Given the description of an element on the screen output the (x, y) to click on. 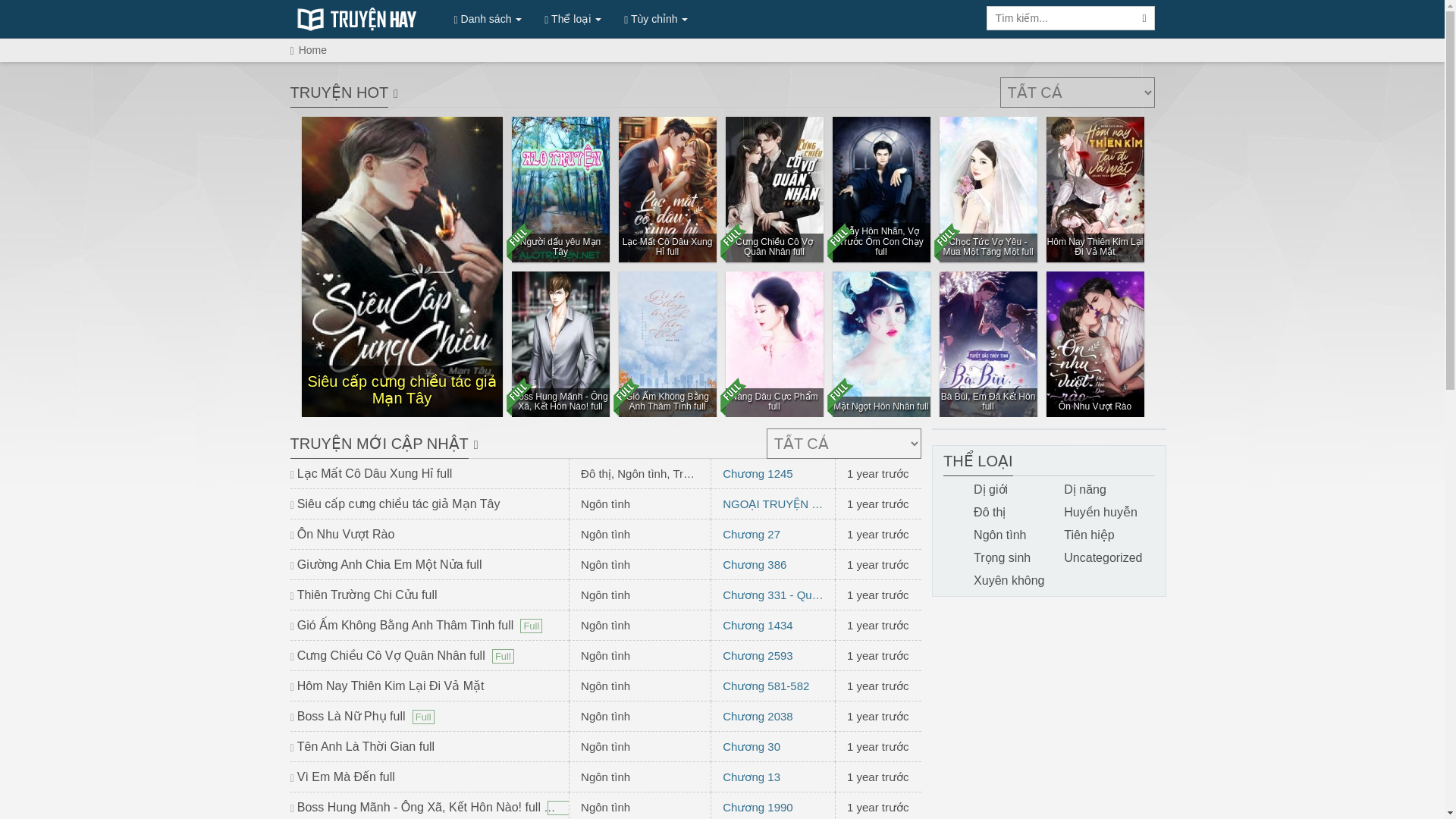
Latest Release (378, 443)
Home (312, 50)
